Given the description of an element on the screen output the (x, y) to click on. 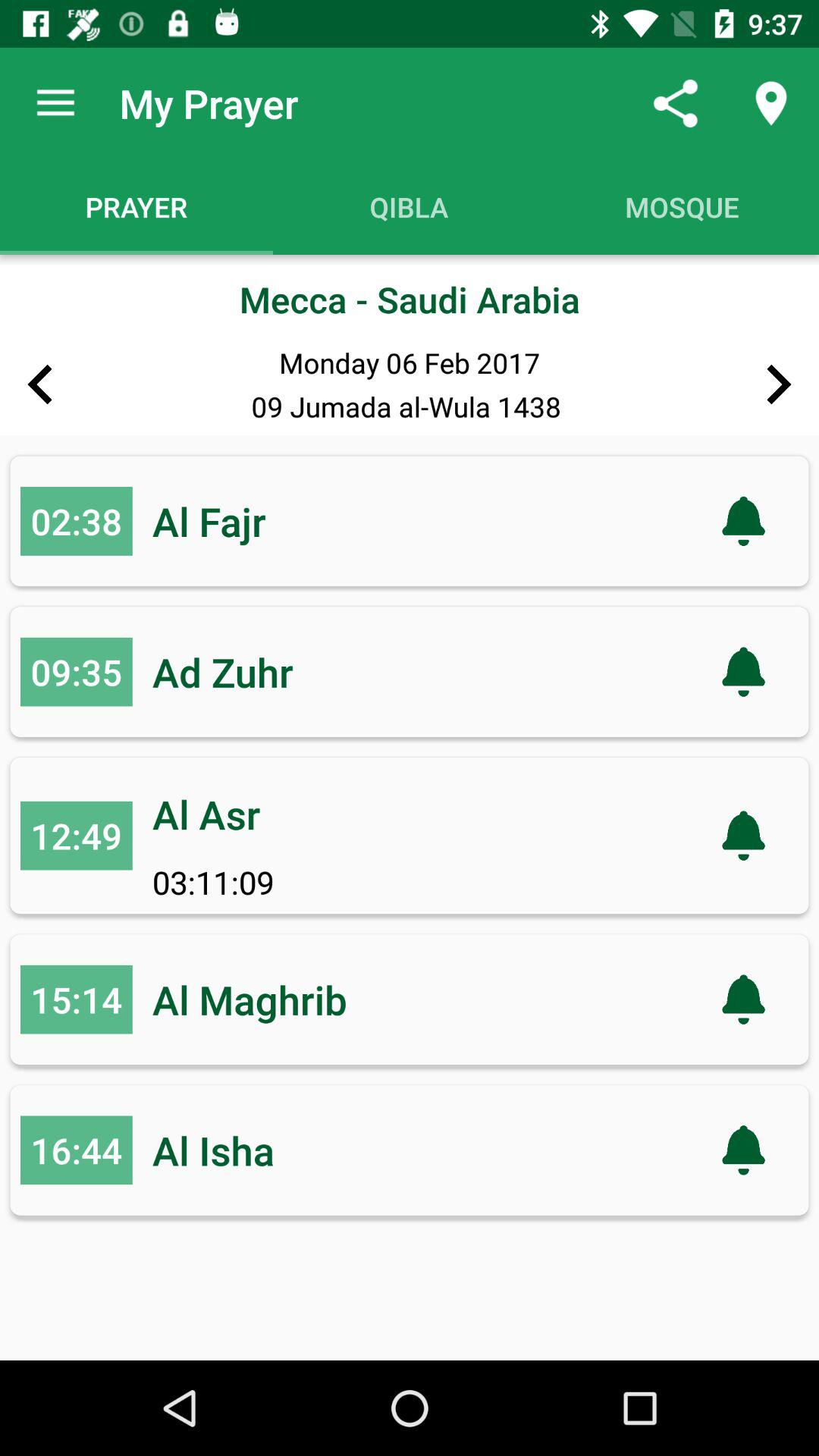
flip until the 12:49 (76, 835)
